Given the description of an element on the screen output the (x, y) to click on. 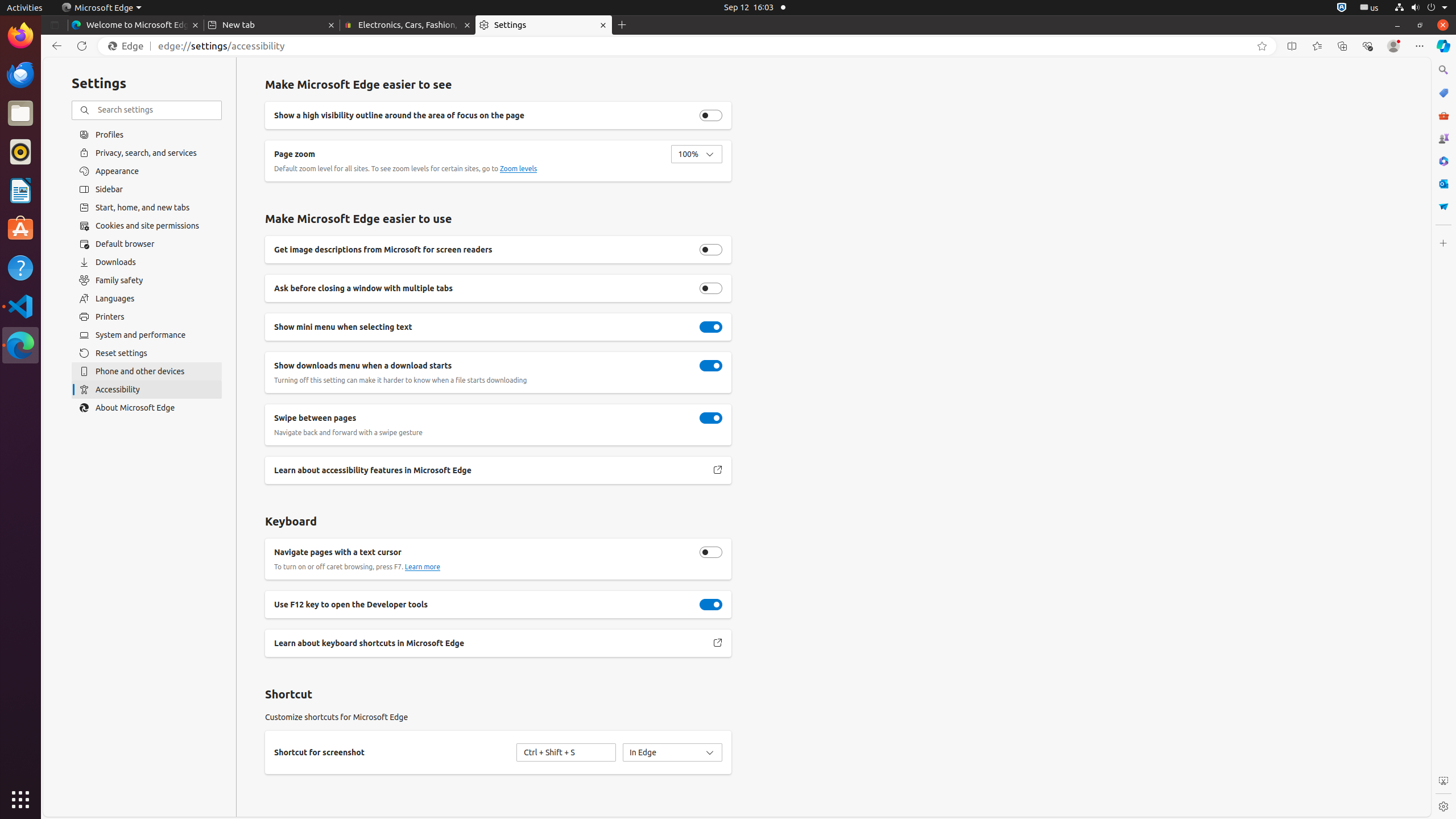
Sidebar Element type: tree-item (146, 189)
Zoom levels Element type: link (518, 168)
Show a high visibility outline around the area of focus on the page Element type: check-box (710, 115)
Close tab Element type: push-button (195, 25)
Settings Element type: push-button (1443, 806)
